Given the description of an element on the screen output the (x, y) to click on. 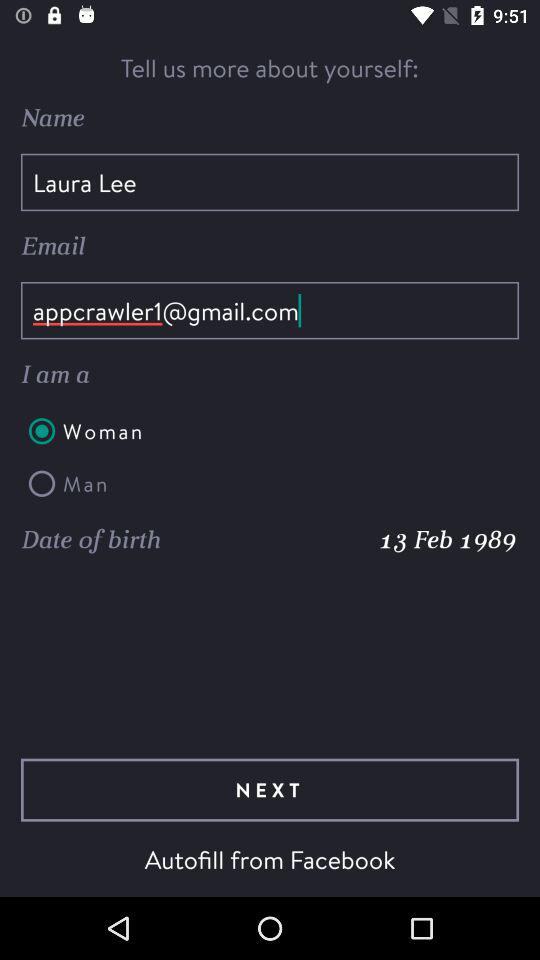
scroll until autofill from facebook (270, 859)
